Given the description of an element on the screen output the (x, y) to click on. 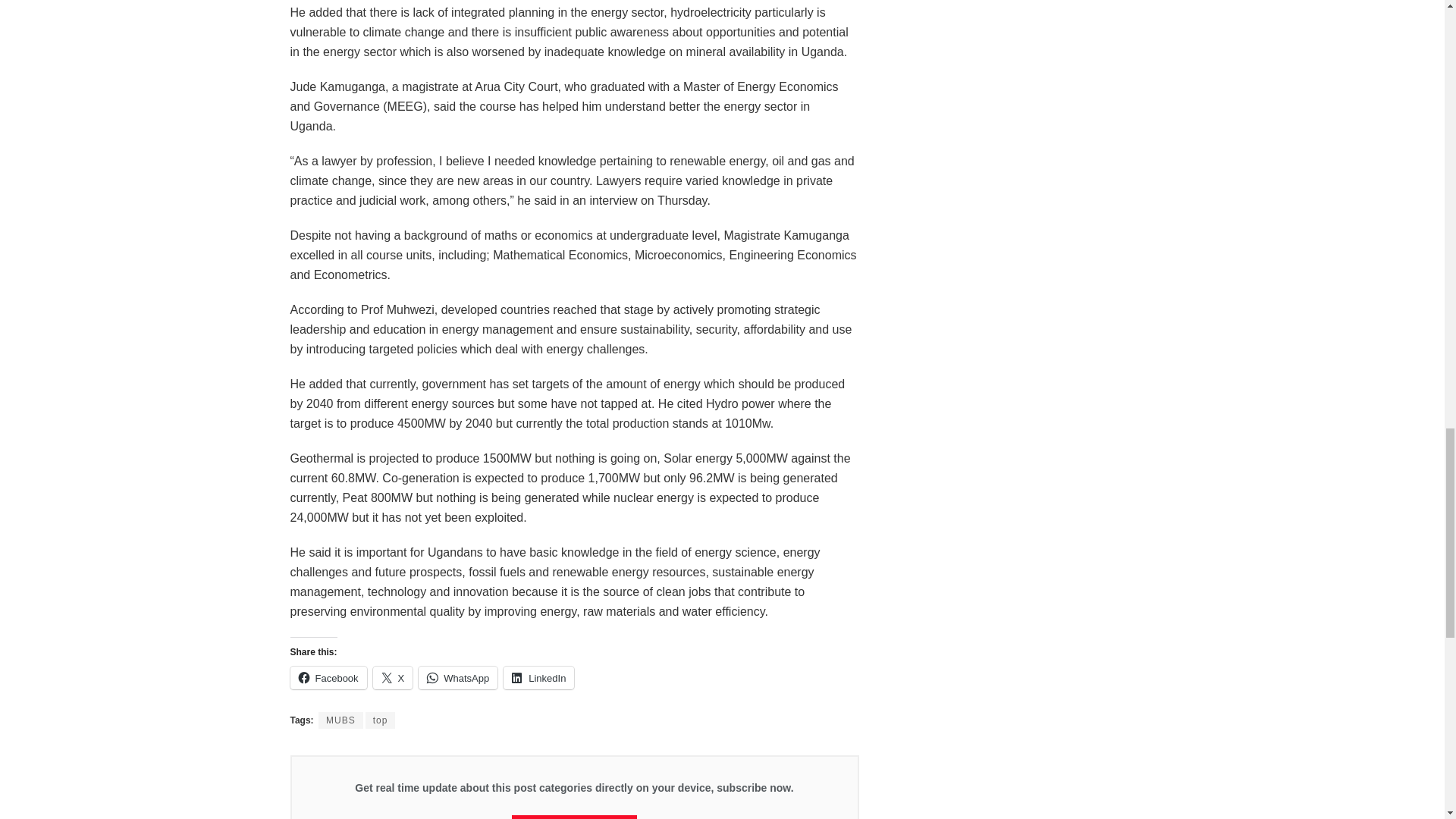
Click to share on LinkedIn (538, 677)
Click to share on X (392, 677)
Click to share on WhatsApp (458, 677)
Click to share on Facebook (327, 677)
